Given the description of an element on the screen output the (x, y) to click on. 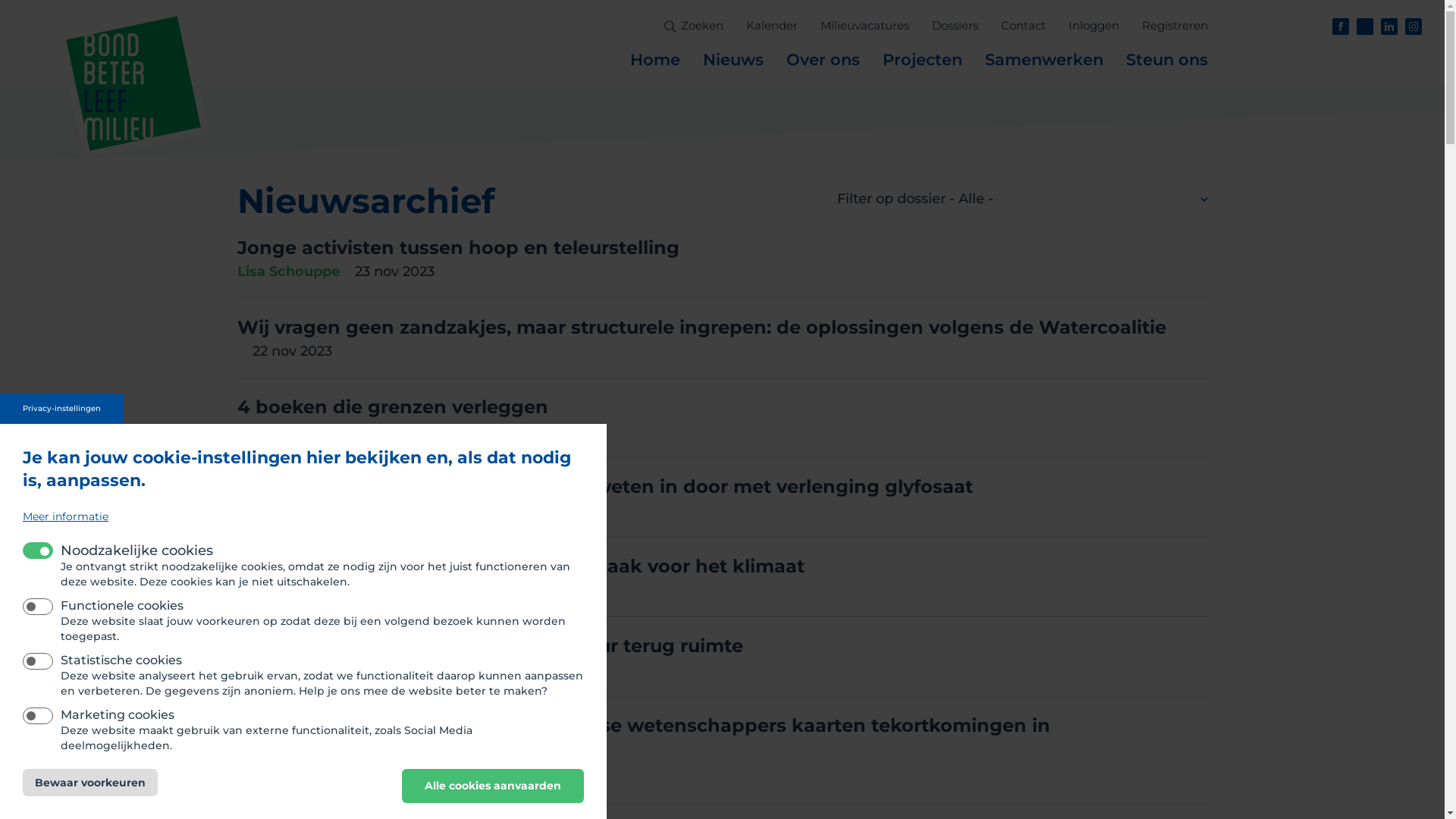
facebook Element type: text (1340, 26)
Contact Element type: text (1023, 25)
Milieuvacatures Element type: text (864, 25)
Projecten Element type: text (922, 59)
Overstromingen Westhoek: geef natuur terug ruimte Element type: text (489, 645)
Over ons Element type: text (822, 59)
linkedin Element type: text (1388, 26)
Meer informatie Element type: text (65, 517)
Kleine kernreactoren zijn een slechte zaak voor het klimaat Element type: text (519, 566)
Inloggen Element type: text (1092, 25)
Registreren Element type: text (1175, 25)
instagram Element type: text (1413, 26)
Alle cookies aanvaarden Element type: text (492, 785)
Samenwerken Element type: text (1043, 59)
Bewaar voorkeuren Element type: text (89, 782)
Enkel noodzakelijke cookies aanvaarden Element type: text (674, 776)
Overslaan en naar de inhoud gaan Element type: text (22, 0)
Steun ons Element type: text (1166, 59)
Privacy-instellingen Element type: text (61, 408)
4 boeken die grenzen verleggen Element type: text (391, 406)
Kalender Element type: text (771, 25)
Bond Beter Leefmilieu Element type: text (133, 83)
Jonge activisten tussen hoop en teleurstelling Element type: text (457, 247)
Home Element type: text (654, 59)
twitter Element type: text (1364, 26)
Zoeken Element type: text (701, 25)
Nieuws Element type: text (732, 59)
Dossiers Element type: text (954, 25)
